Given the description of an element on the screen output the (x, y) to click on. 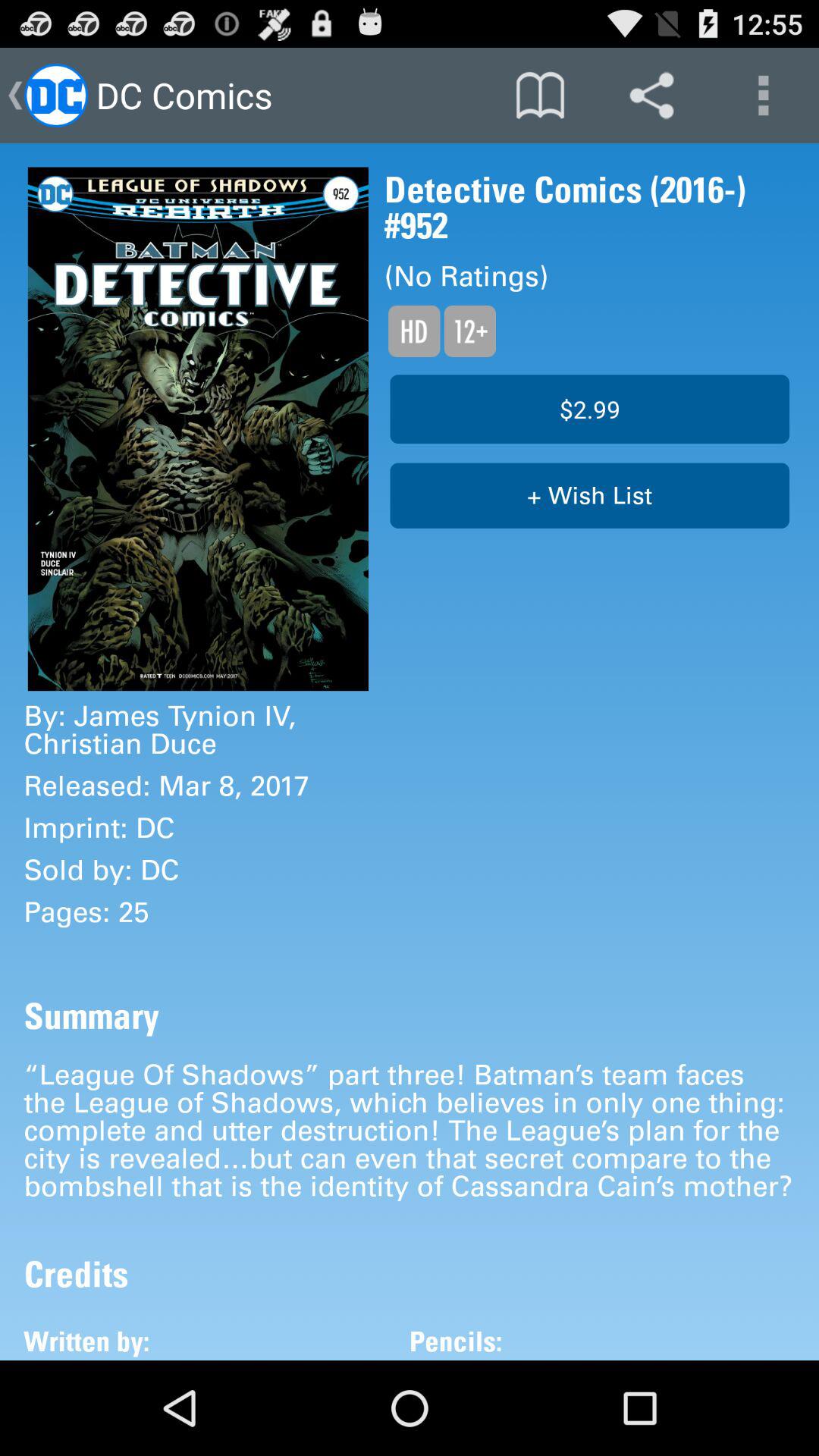
launch icon to the right of the dc comics app (540, 95)
